Given the description of an element on the screen output the (x, y) to click on. 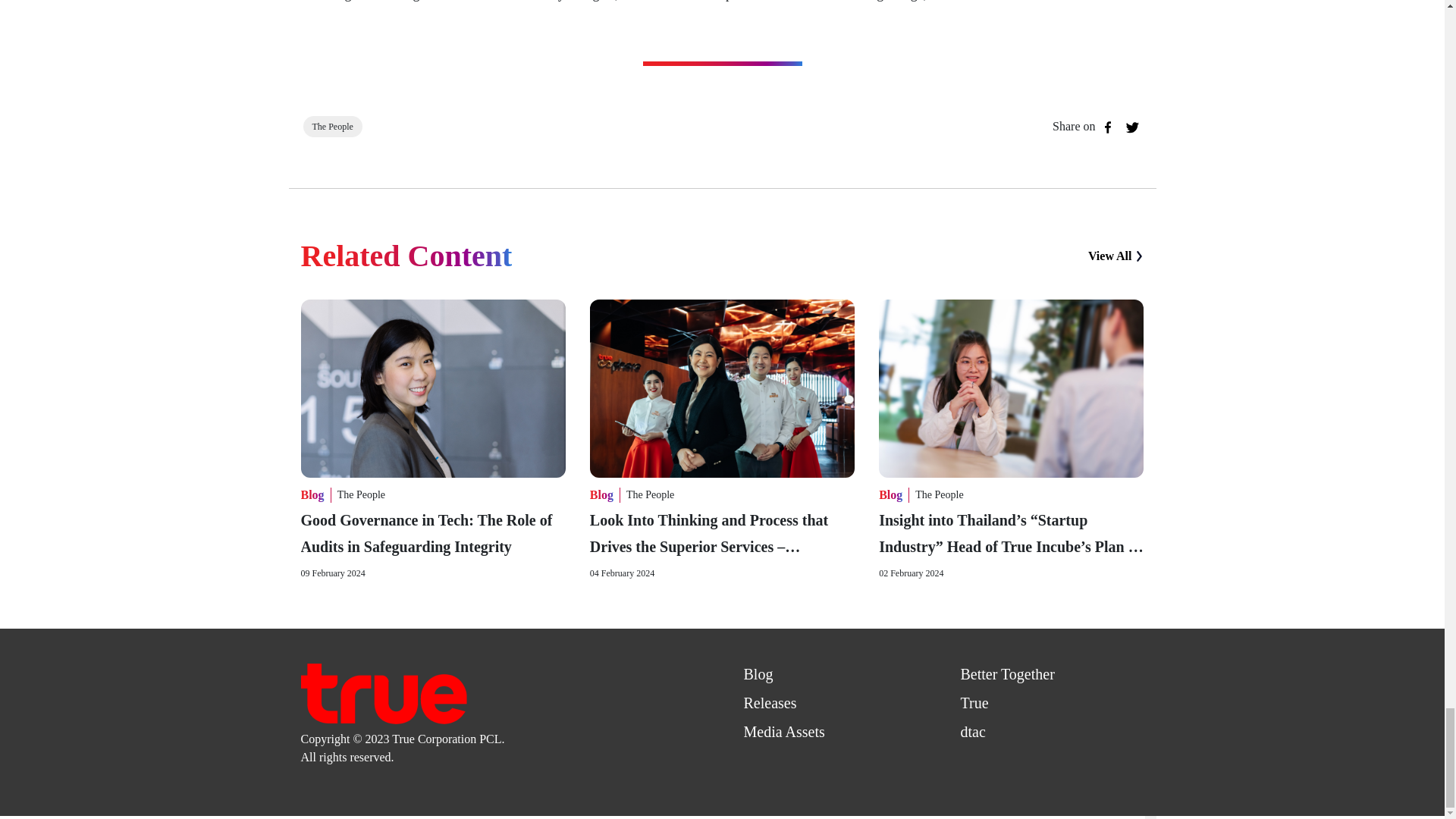
Blog (757, 673)
Releases (769, 702)
The People (650, 494)
dtac (972, 731)
The People (938, 494)
View All (1115, 256)
True (973, 702)
Twitter (1131, 127)
The People (361, 494)
Media Assets (783, 731)
Better Together (1006, 673)
Facebook (1107, 127)
True blog (382, 691)
The People (333, 126)
